Given the description of an element on the screen output the (x, y) to click on. 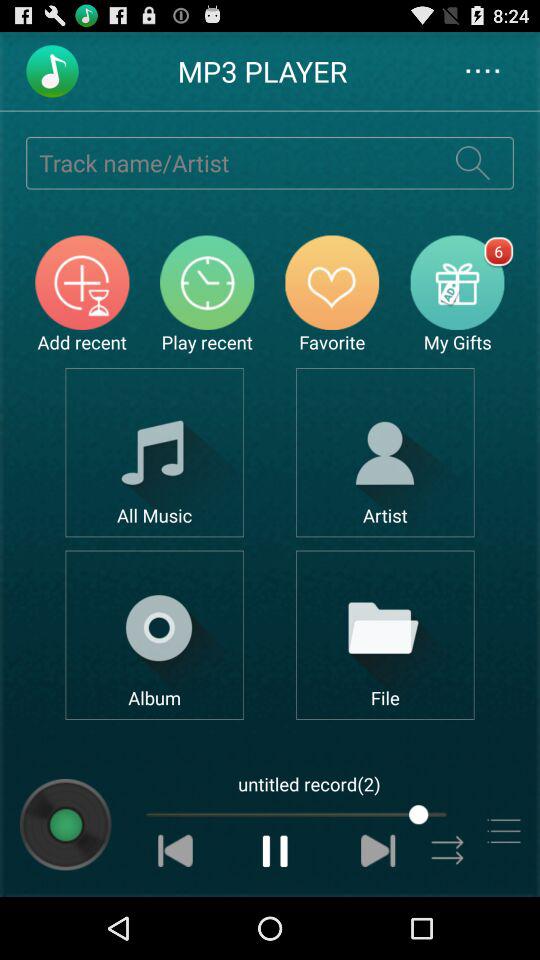
search for name/artist (472, 162)
